Given the description of an element on the screen output the (x, y) to click on. 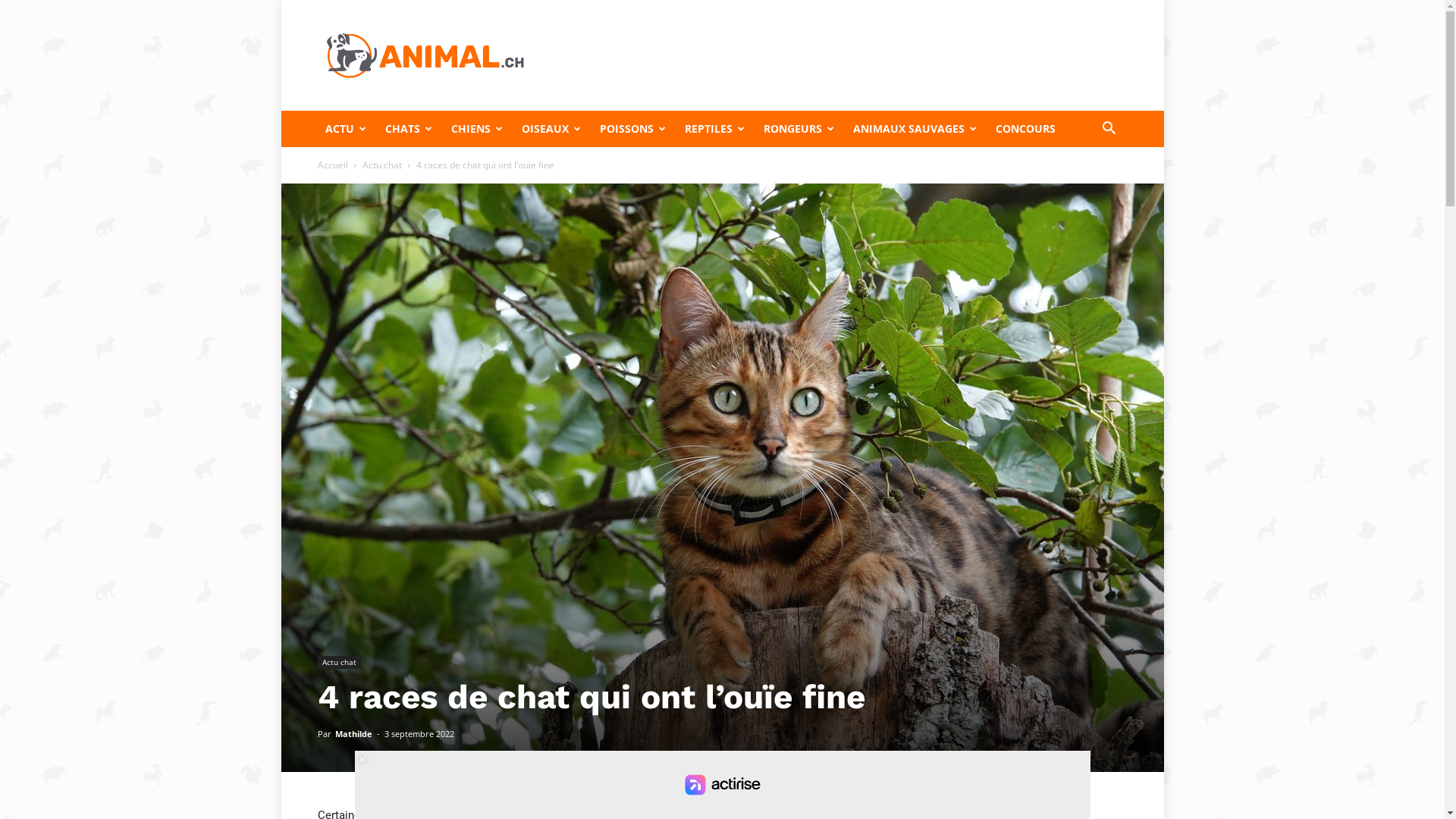
ANIMAUX SAUVAGES Element type: text (915, 128)
ACTU Element type: text (346, 128)
CHATS Element type: text (410, 128)
Actu chat Element type: text (381, 164)
RONGEURS Element type: text (799, 128)
Accueil Element type: text (331, 164)
Mathilde Element type: text (353, 733)
POISSONS Element type: text (633, 128)
CHIENS Element type: text (477, 128)
Actu chat Element type: text (338, 661)
OISEAUX Element type: text (553, 128)
REPTILES Element type: text (715, 128)
Recherche Element type: text (1076, 189)
CONCOURS Element type: text (1026, 128)
